Given the description of an element on the screen output the (x, y) to click on. 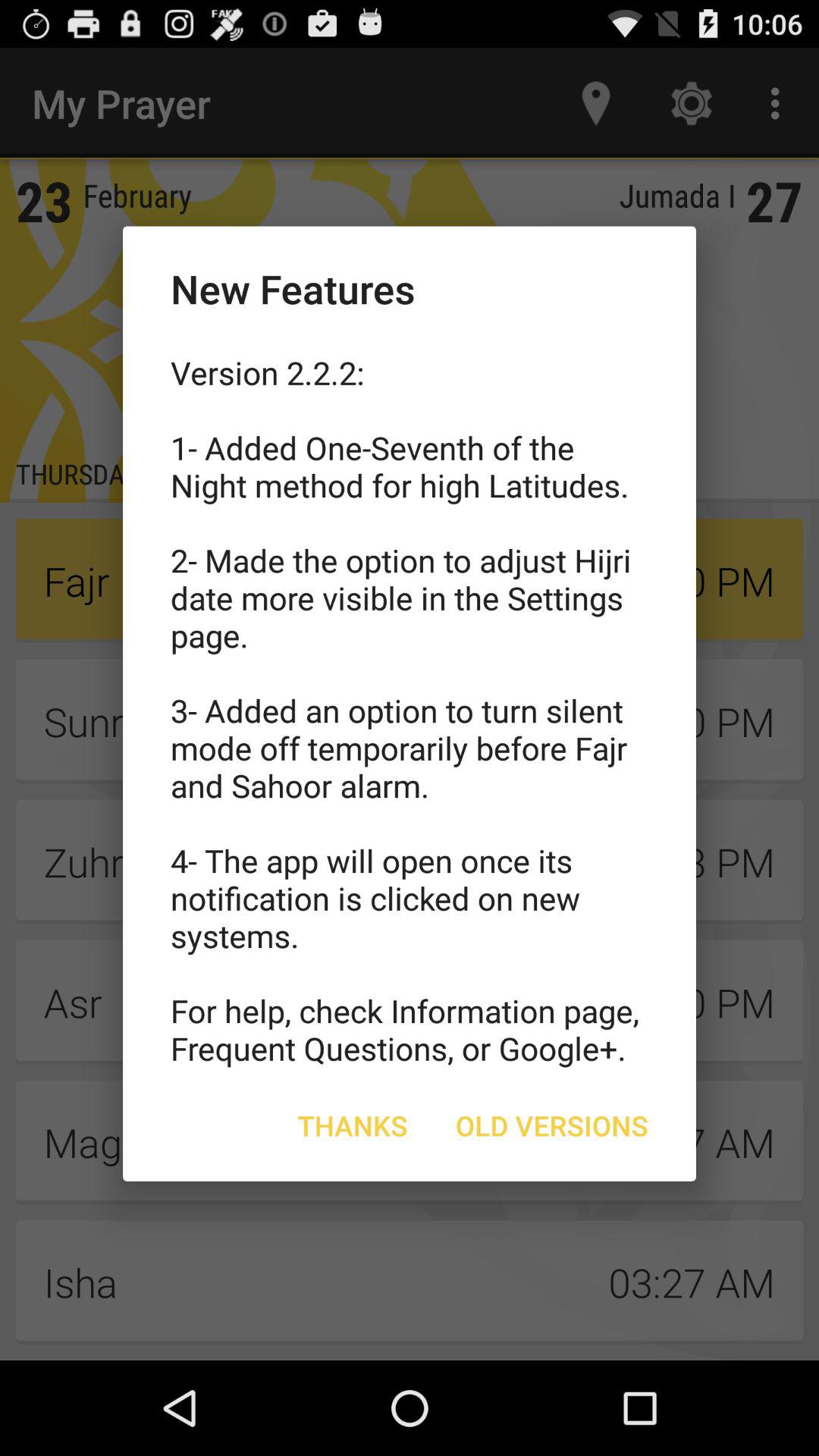
press the app below the version 2 2 item (551, 1125)
